Given the description of an element on the screen output the (x, y) to click on. 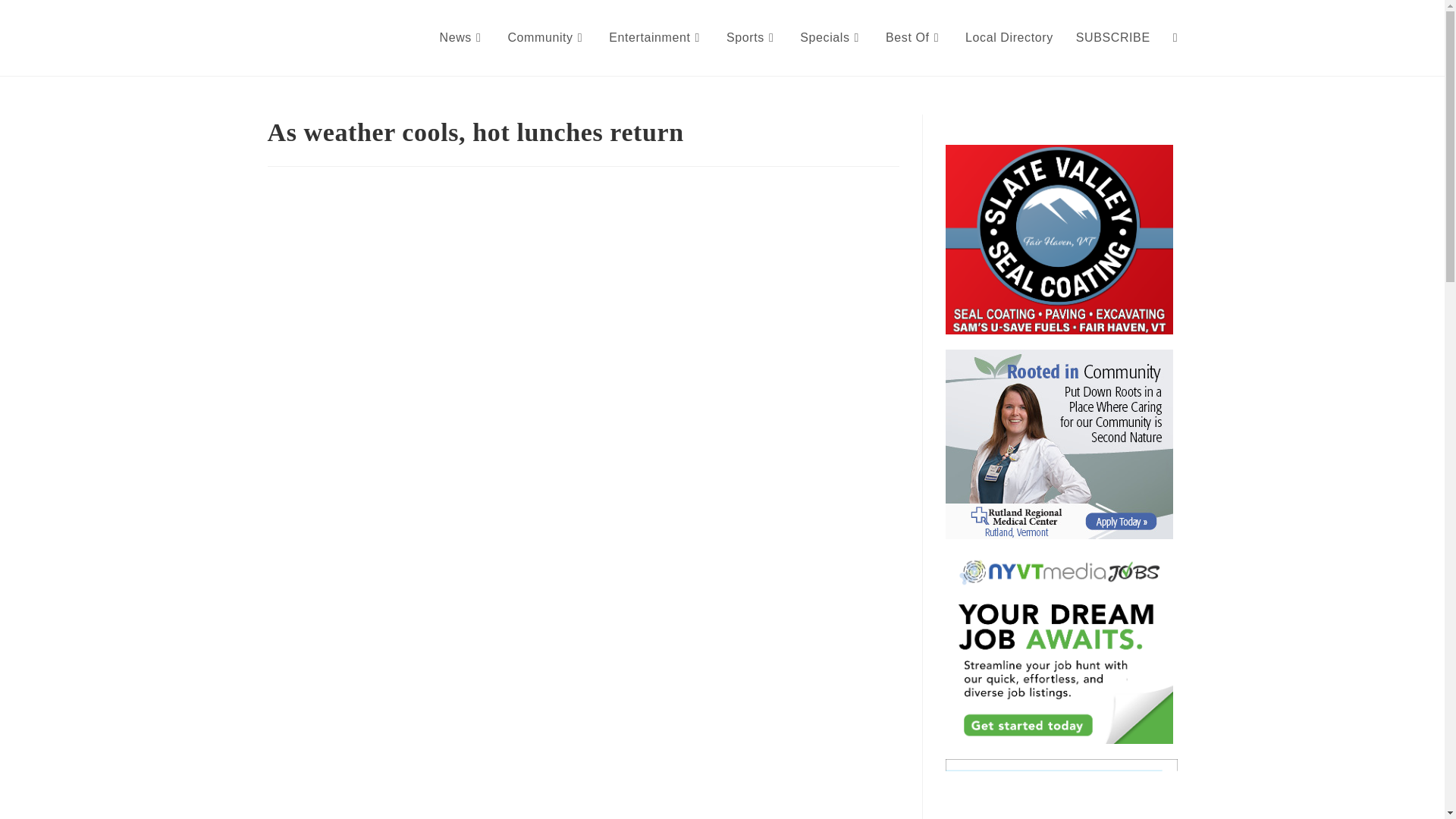
Specials (832, 38)
Local Directory (1008, 38)
Entertainment (655, 38)
Sports (751, 38)
Best Of (914, 38)
News (462, 38)
Community (546, 38)
